Given the description of an element on the screen output the (x, y) to click on. 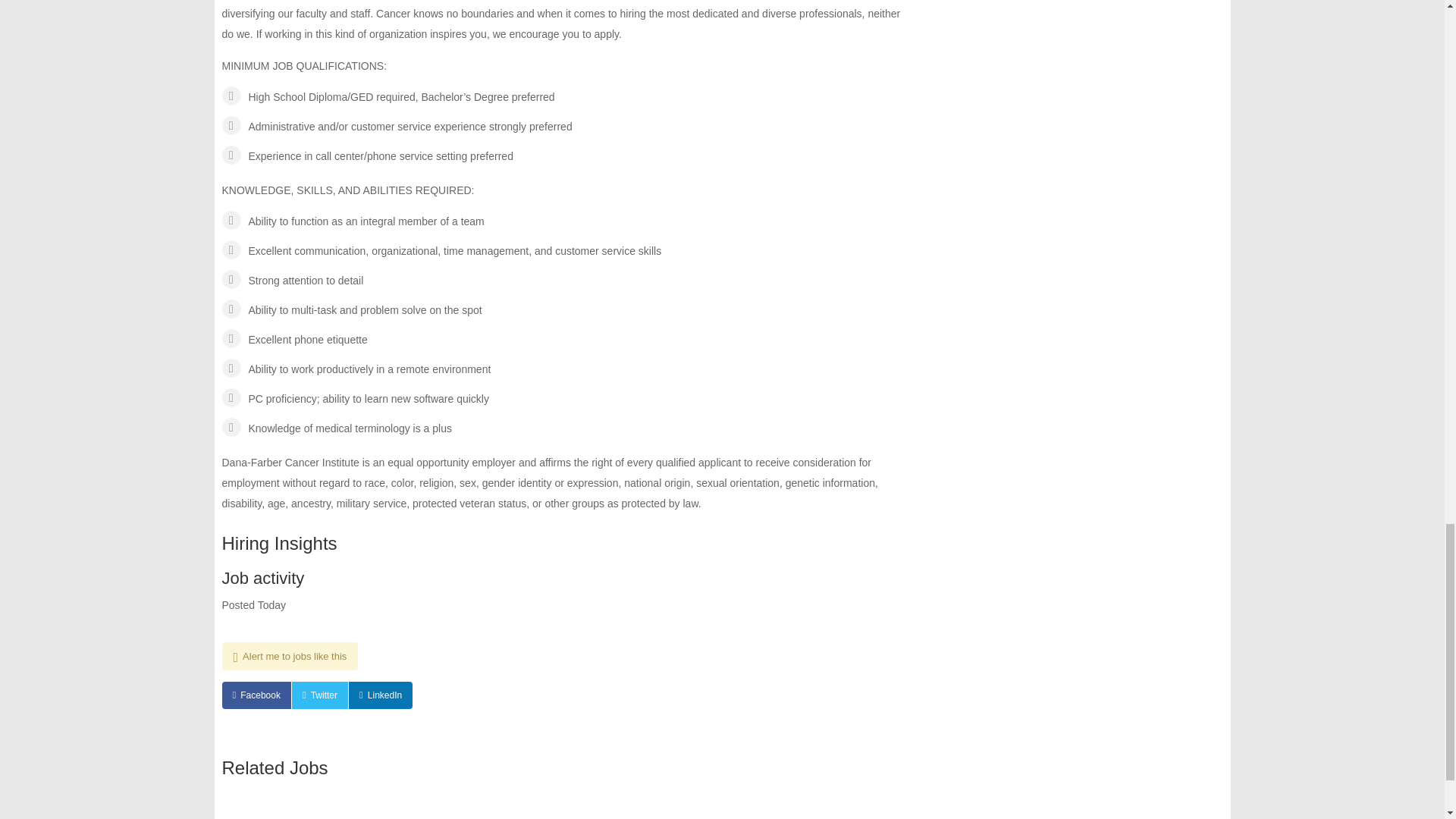
Twitter (319, 695)
Facebook (255, 695)
Twitter (319, 695)
Alert me to jobs like this (289, 656)
LinkedIn (380, 695)
